Given the description of an element on the screen output the (x, y) to click on. 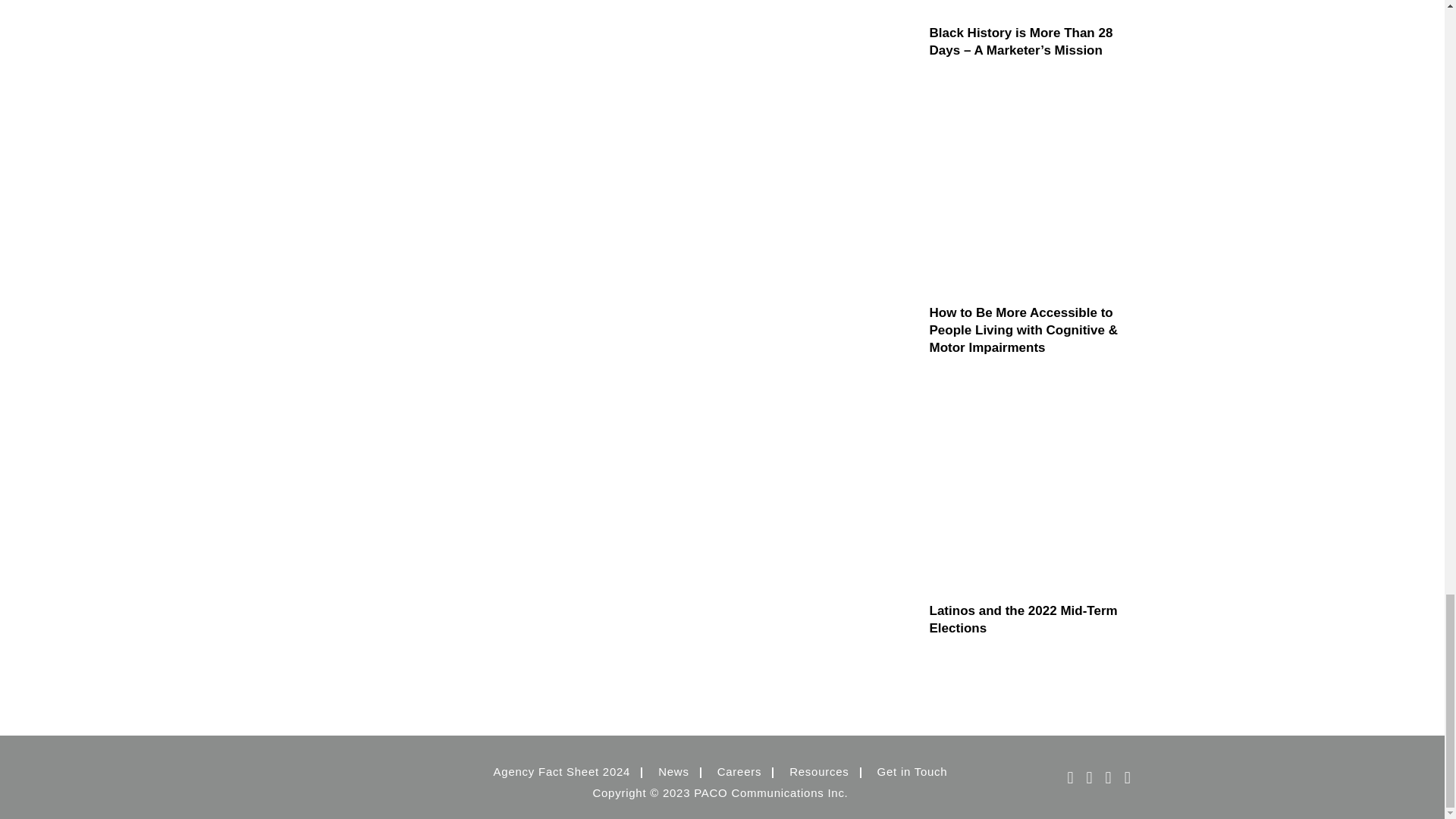
Latinos and the 2022 Mid-Term Elections (1033, 490)
Latinos and the 2022 Mid-Term Elections (1033, 619)
